Given the description of an element on the screen output the (x, y) to click on. 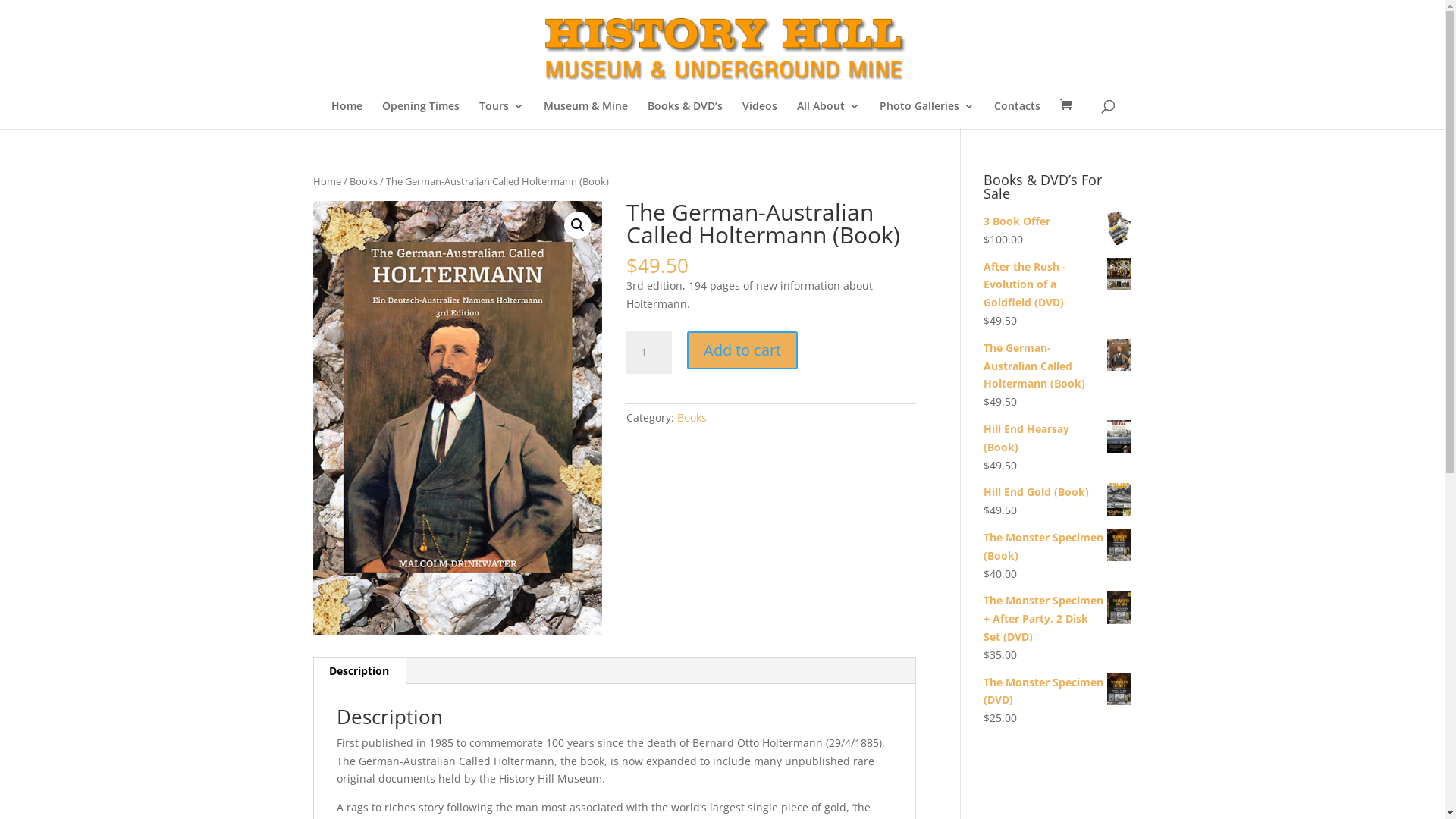
Hill End Hearsay (Book) Element type: text (1057, 438)
Add to cart Element type: text (742, 350)
Home Element type: text (346, 114)
Holtermann-2019 Element type: hover (457, 417)
Home Element type: text (326, 181)
Description Element type: text (358, 671)
Books Element type: text (362, 181)
Museum & Mine Element type: text (585, 114)
After the Rush - Evolution of a Goldfield (DVD) Element type: text (1057, 284)
The Monster Specimen + After Party, 2 Disk Set (DVD) Element type: text (1057, 618)
The Monster Specimen (DVD) Element type: text (1057, 691)
The Monster Specimen (Book) Element type: text (1057, 546)
Hill End Gold (Book) Element type: text (1057, 492)
The German-Australian Called Holtermann (Book) Element type: text (1057, 365)
Contacts Element type: text (1017, 114)
All About Element type: text (828, 114)
Videos Element type: text (759, 114)
Photo Galleries Element type: text (926, 114)
Books Element type: text (691, 417)
3 Book Offer Element type: text (1057, 221)
Opening Times Element type: text (420, 114)
Tours Element type: text (501, 114)
